Given the description of an element on the screen output the (x, y) to click on. 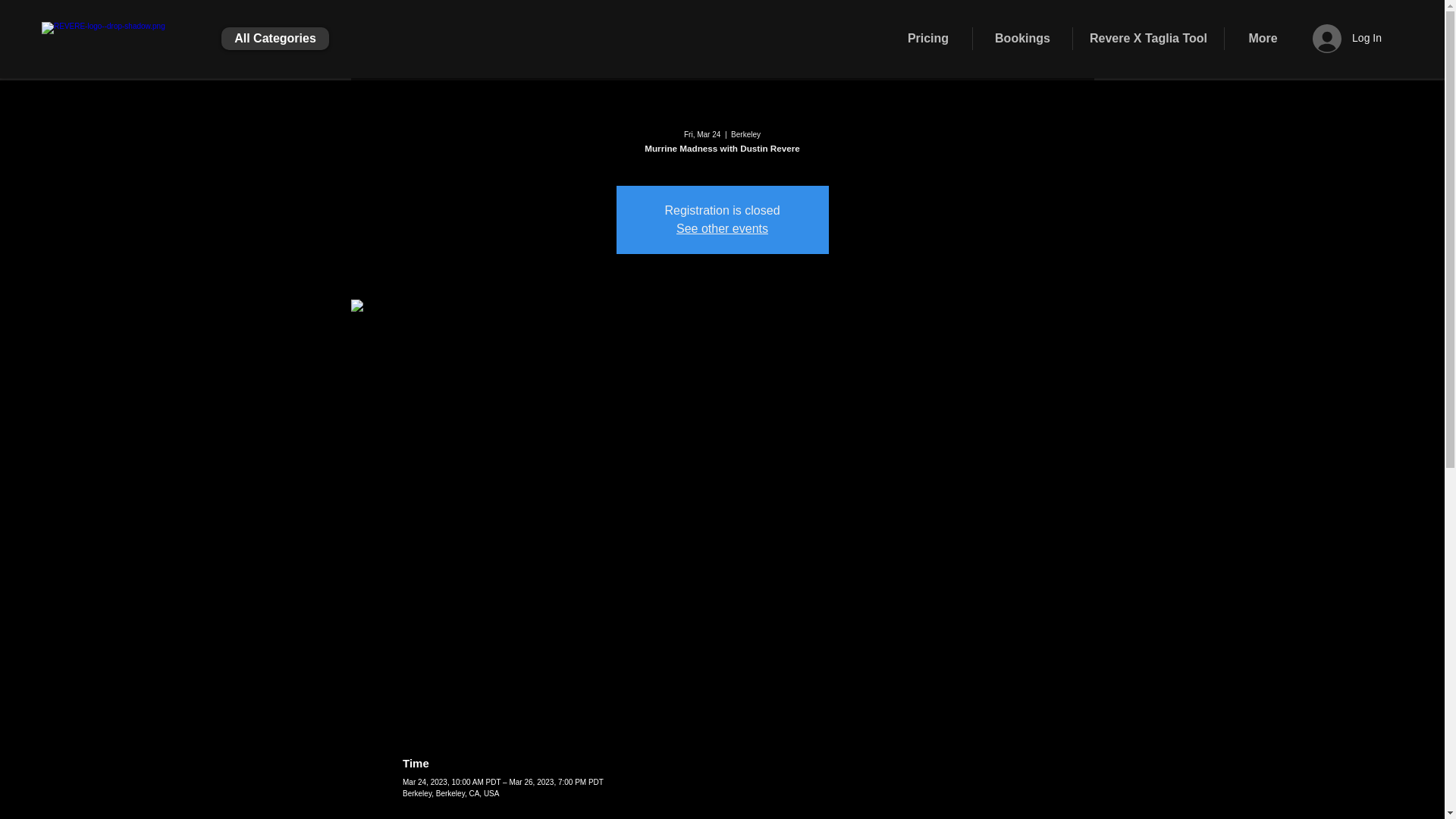
All Categories (275, 38)
More (1262, 38)
Log In (1346, 38)
Pricing (927, 38)
See other events (722, 228)
Revere X Taglia Tool (1148, 38)
Bookings (1021, 38)
